Given the description of an element on the screen output the (x, y) to click on. 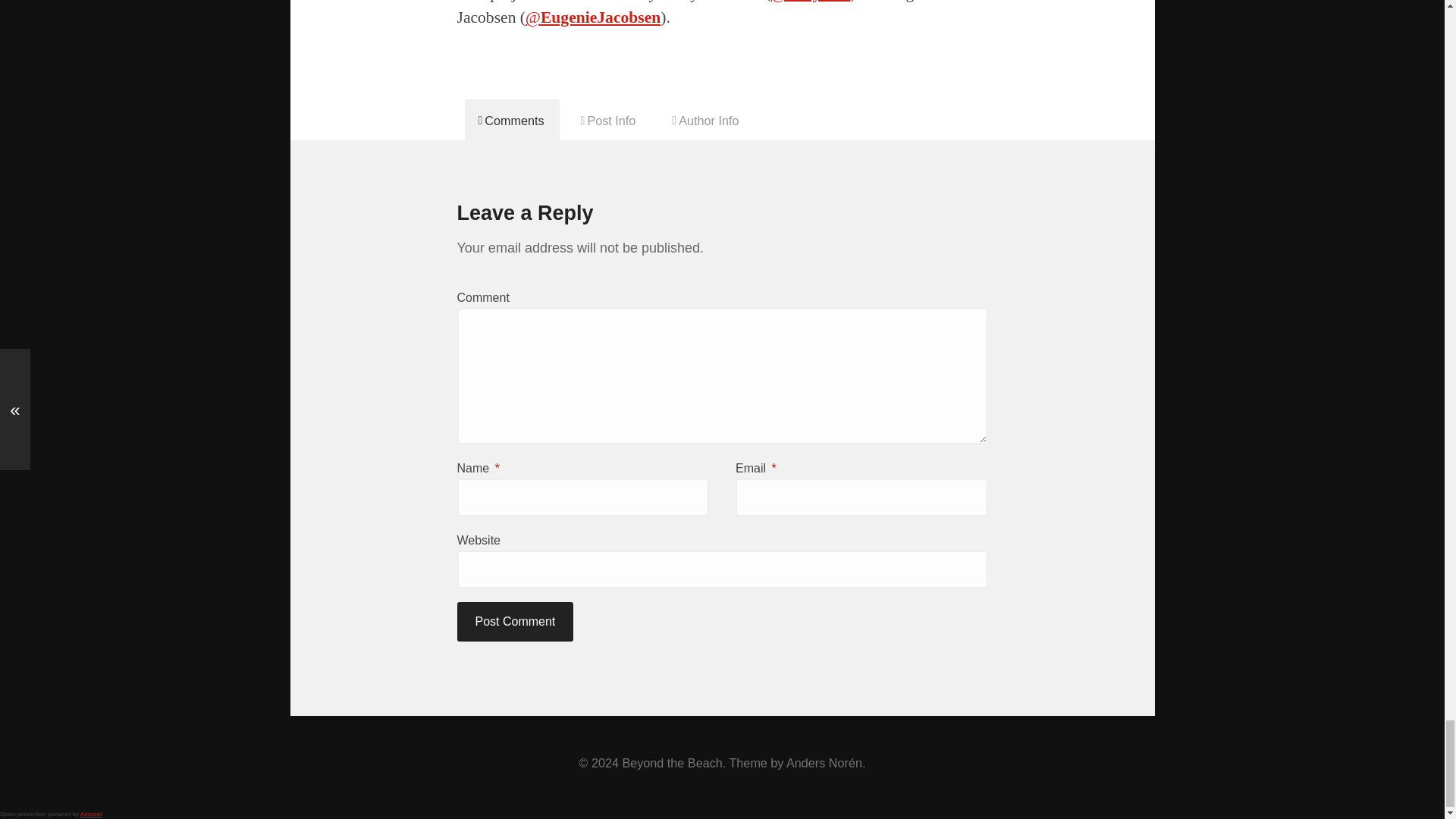
Post Comment (515, 621)
Post Comment (515, 621)
Post Info (608, 119)
Beyond the Beach (671, 762)
Author Info (706, 119)
Comments (511, 119)
